Given the description of an element on the screen output the (x, y) to click on. 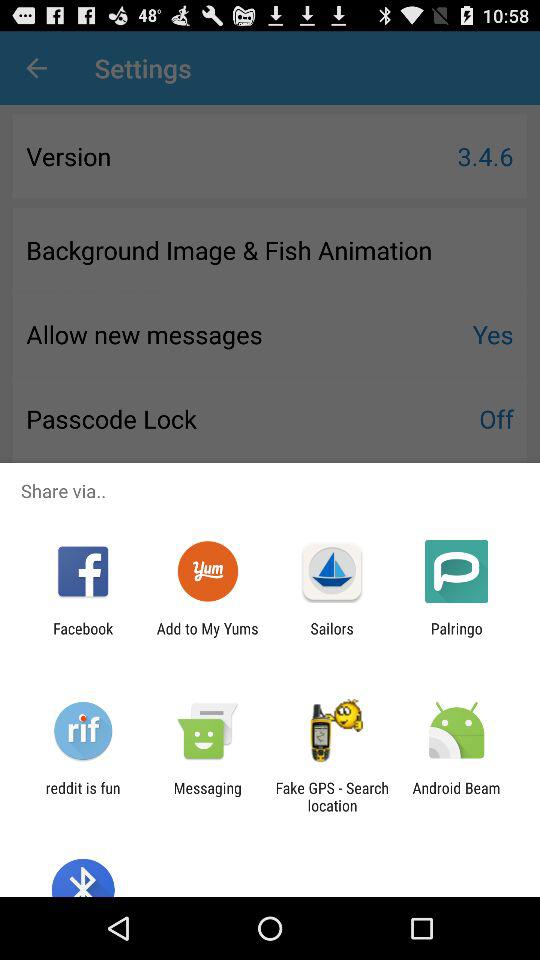
select the app next to the palringo item (331, 637)
